Given the description of an element on the screen output the (x, y) to click on. 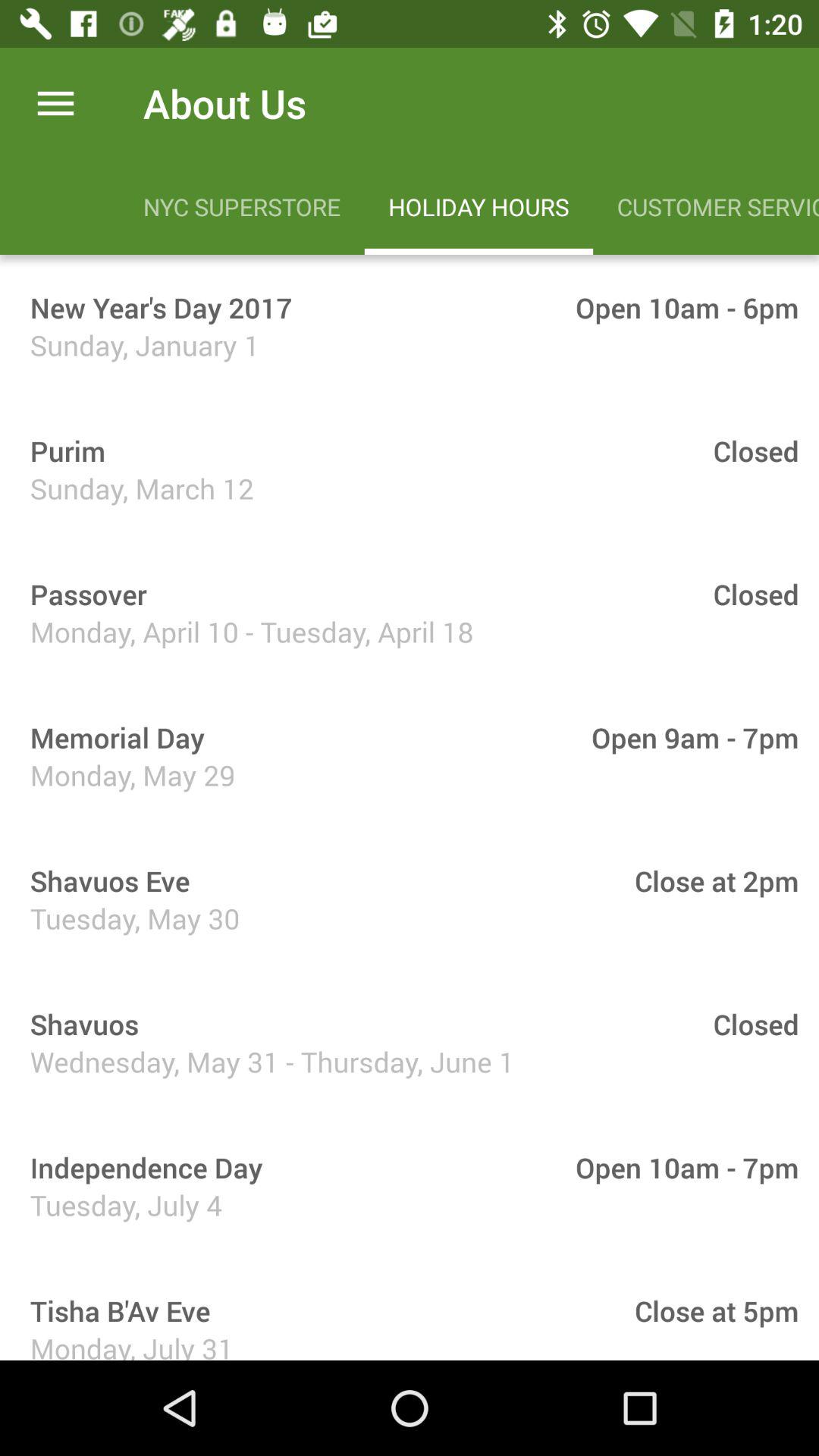
tap icon to the left of the open 10am - 7pm (140, 1167)
